Given the description of an element on the screen output the (x, y) to click on. 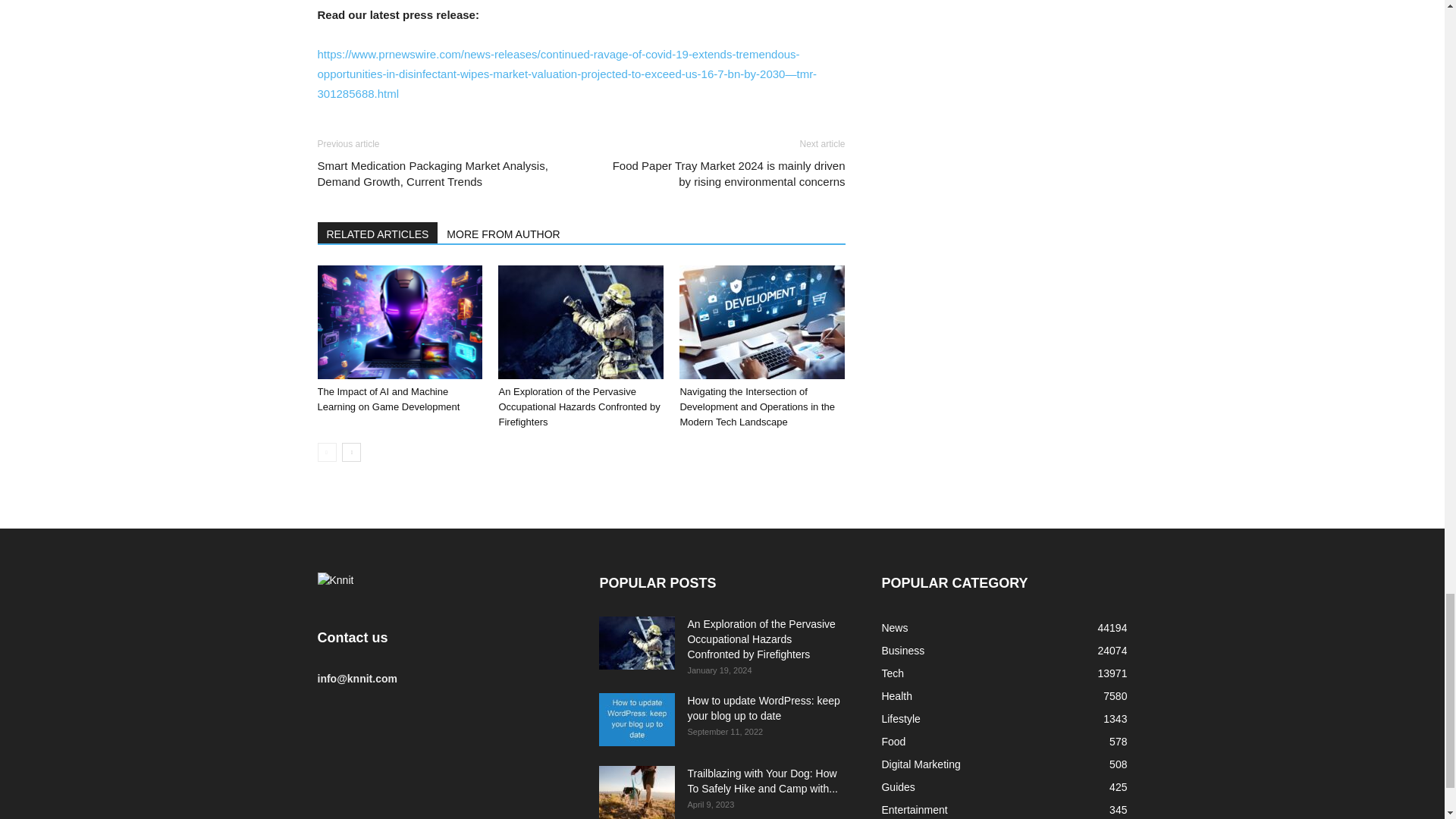
The Impact of AI and Machine Learning on Game Development (399, 322)
MORE FROM AUTHOR (503, 232)
The Impact of AI and Machine Learning on Game Development (388, 398)
RELATED ARTICLES (377, 232)
